Given the description of an element on the screen output the (x, y) to click on. 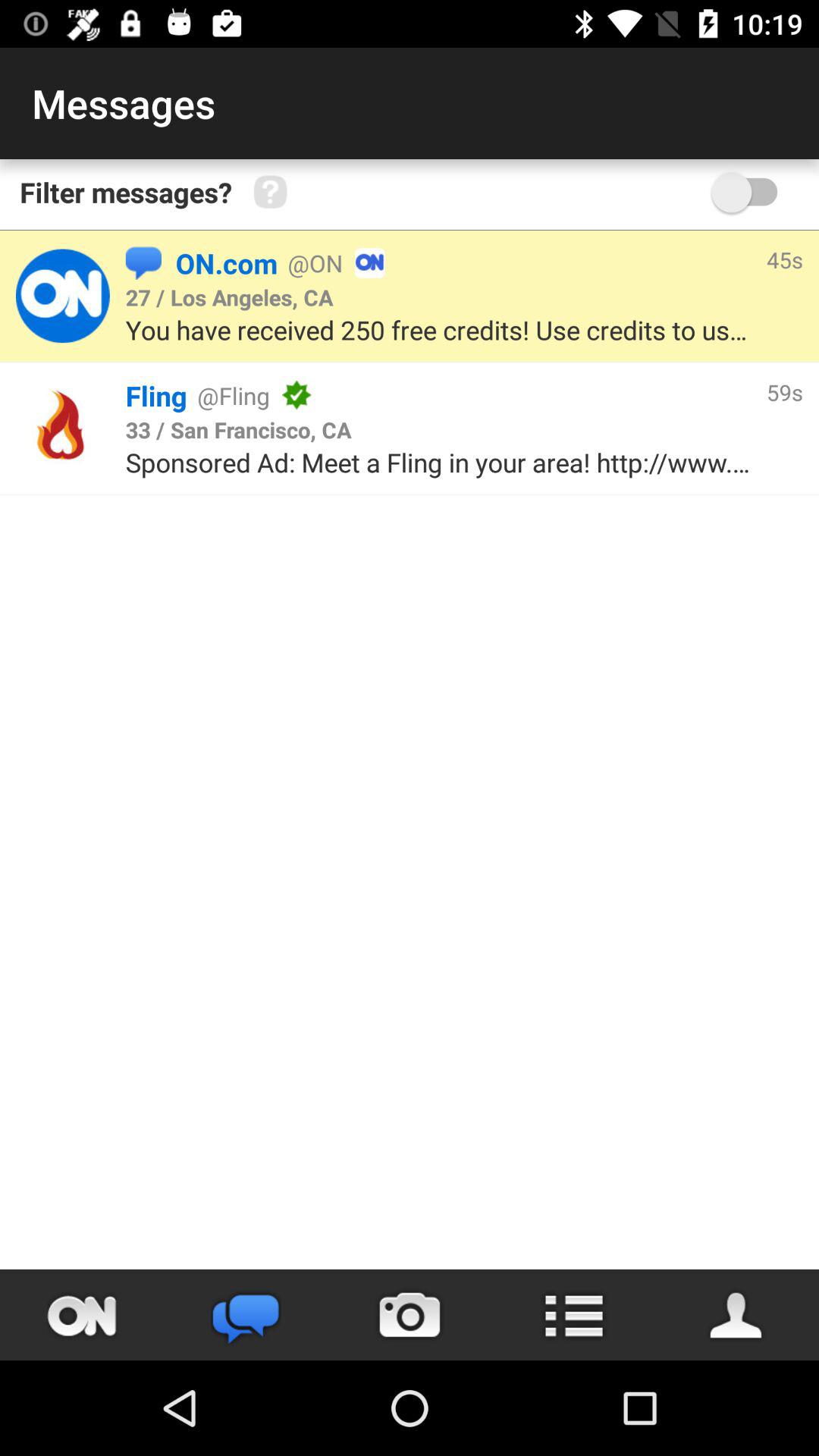
message selection (62, 295)
